Given the description of an element on the screen output the (x, y) to click on. 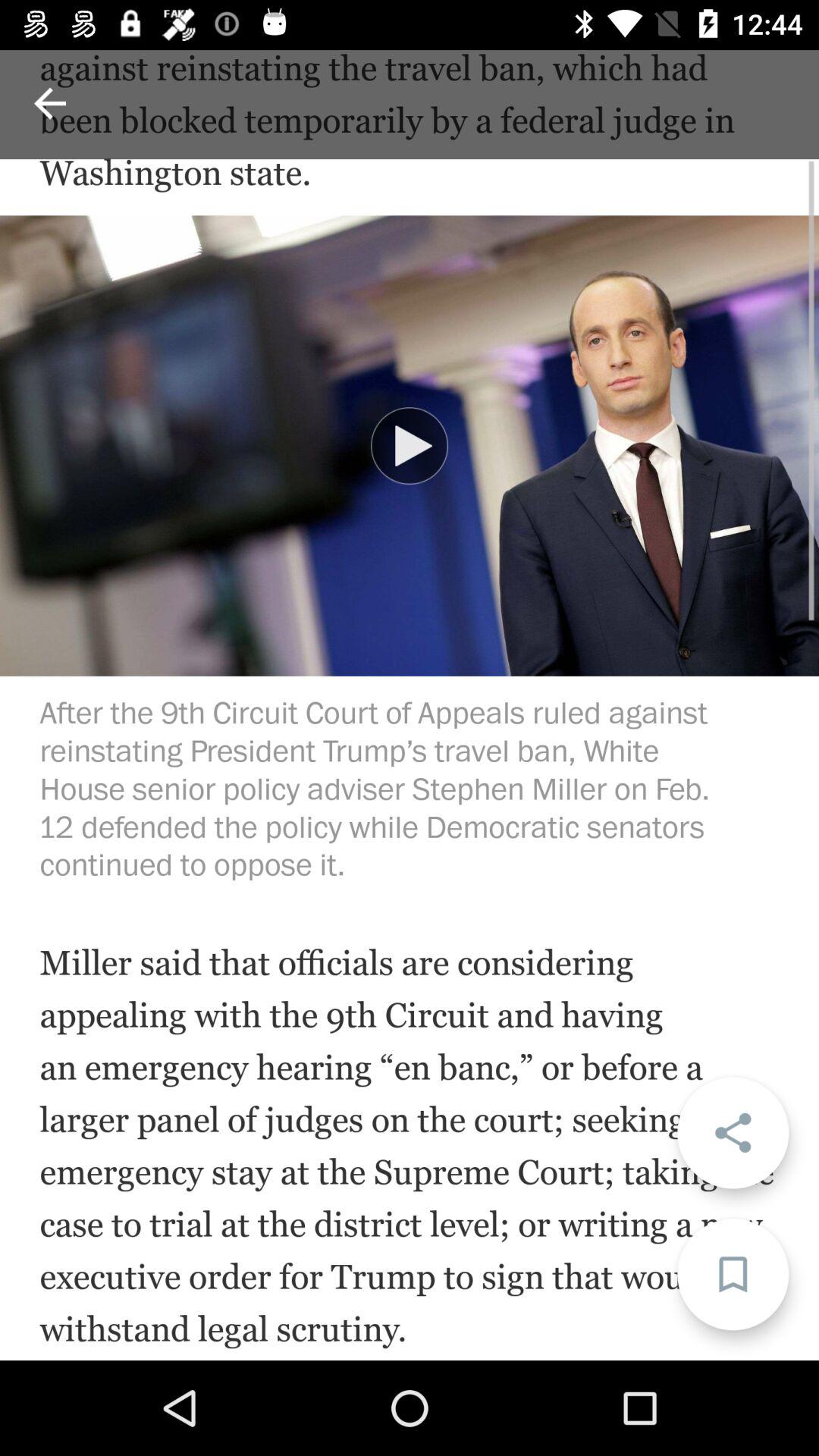
turn on the app below the after the 9th icon (732, 1132)
